Given the description of an element on the screen output the (x, y) to click on. 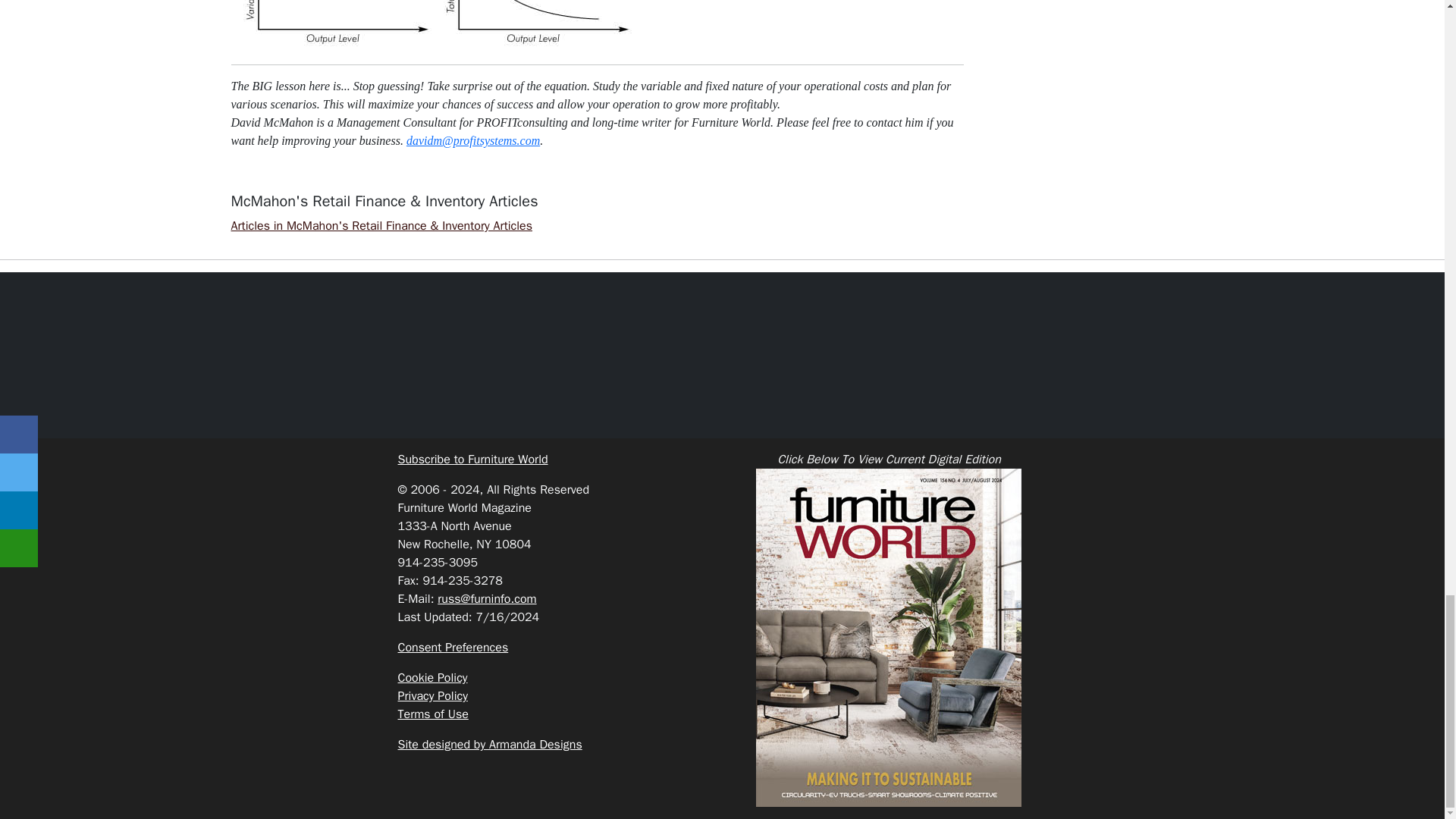
Privacy Policy (432, 695)
Cookie Policy (432, 677)
Terms of Use (432, 713)
Site designed by Armanda Designs (488, 744)
Subscribe to Furniture World (472, 459)
Consent Preferences (452, 647)
